Given the description of an element on the screen output the (x, y) to click on. 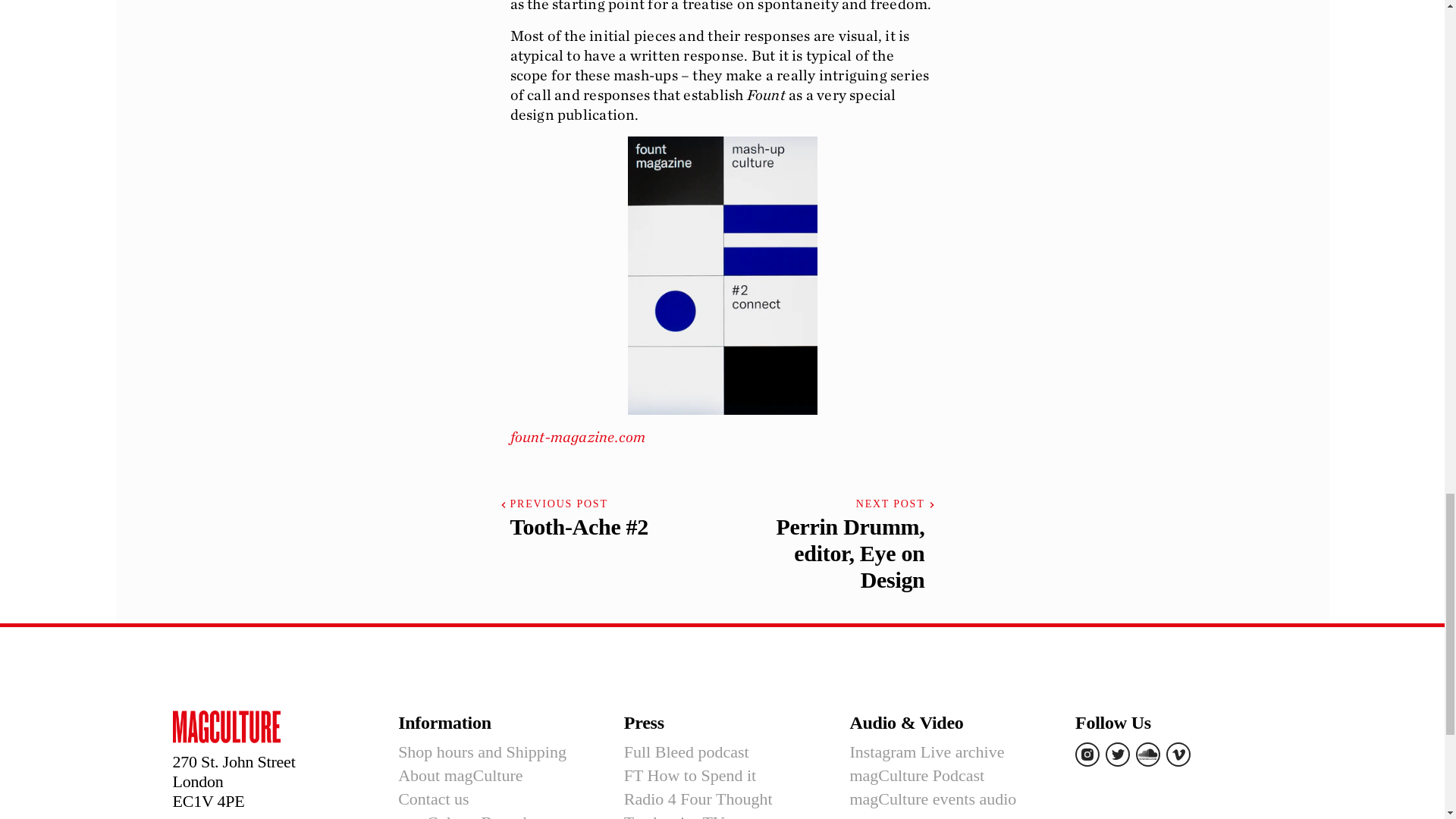
Vimeo (1178, 754)
Soundcloud (1147, 754)
Instagram (1087, 754)
Twitter (1117, 754)
